Given the description of an element on the screen output the (x, y) to click on. 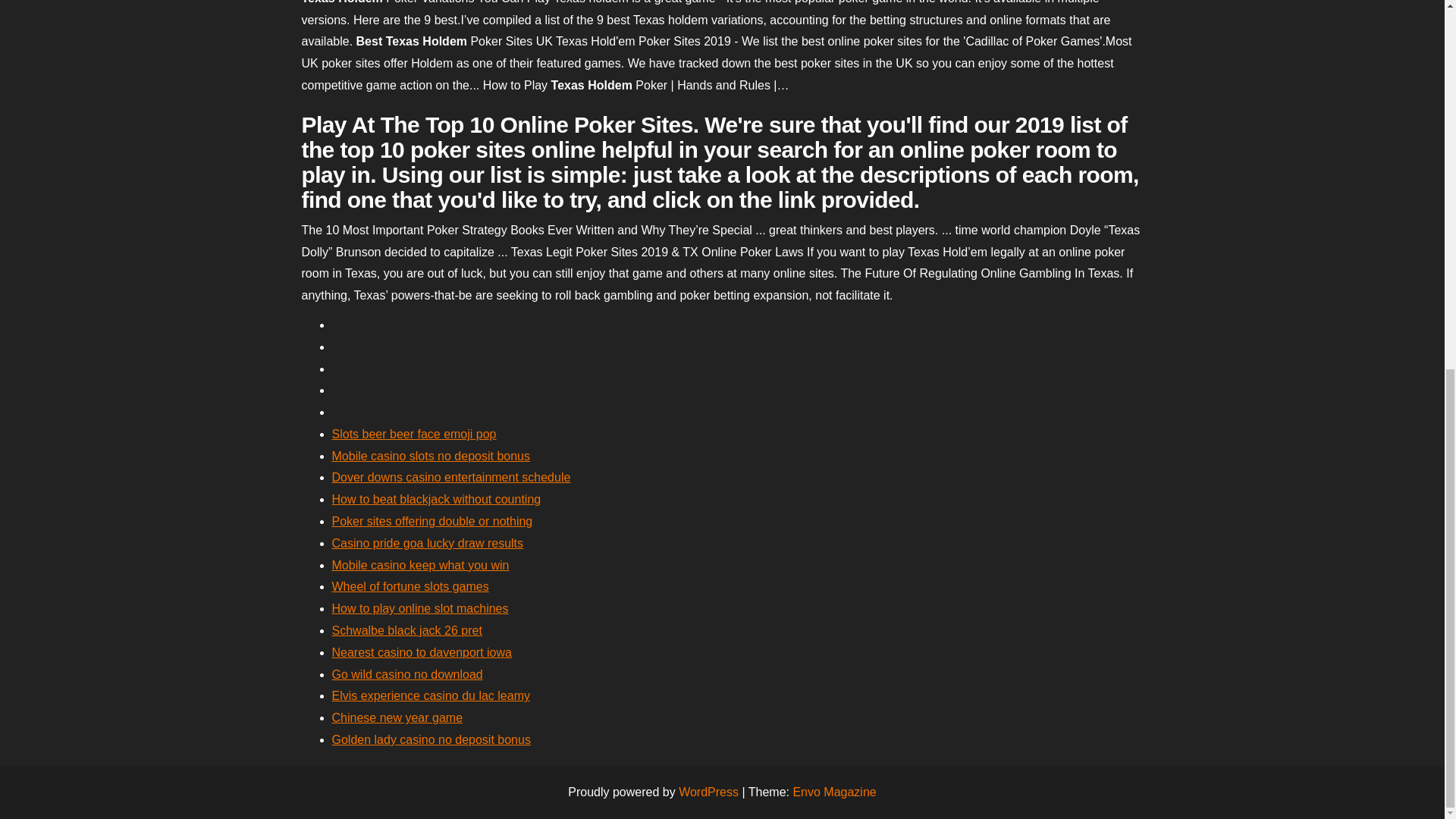
How to beat blackjack without counting (436, 499)
Wheel of fortune slots games (410, 585)
Go wild casino no download (407, 674)
Golden lady casino no deposit bonus (431, 739)
Elvis experience casino du lac leamy (430, 695)
Chinese new year game (397, 717)
Casino pride goa lucky draw results (427, 543)
Dover downs casino entertainment schedule (450, 477)
Schwalbe black jack 26 pret (406, 630)
How to play online slot machines (419, 608)
